Given the description of an element on the screen output the (x, y) to click on. 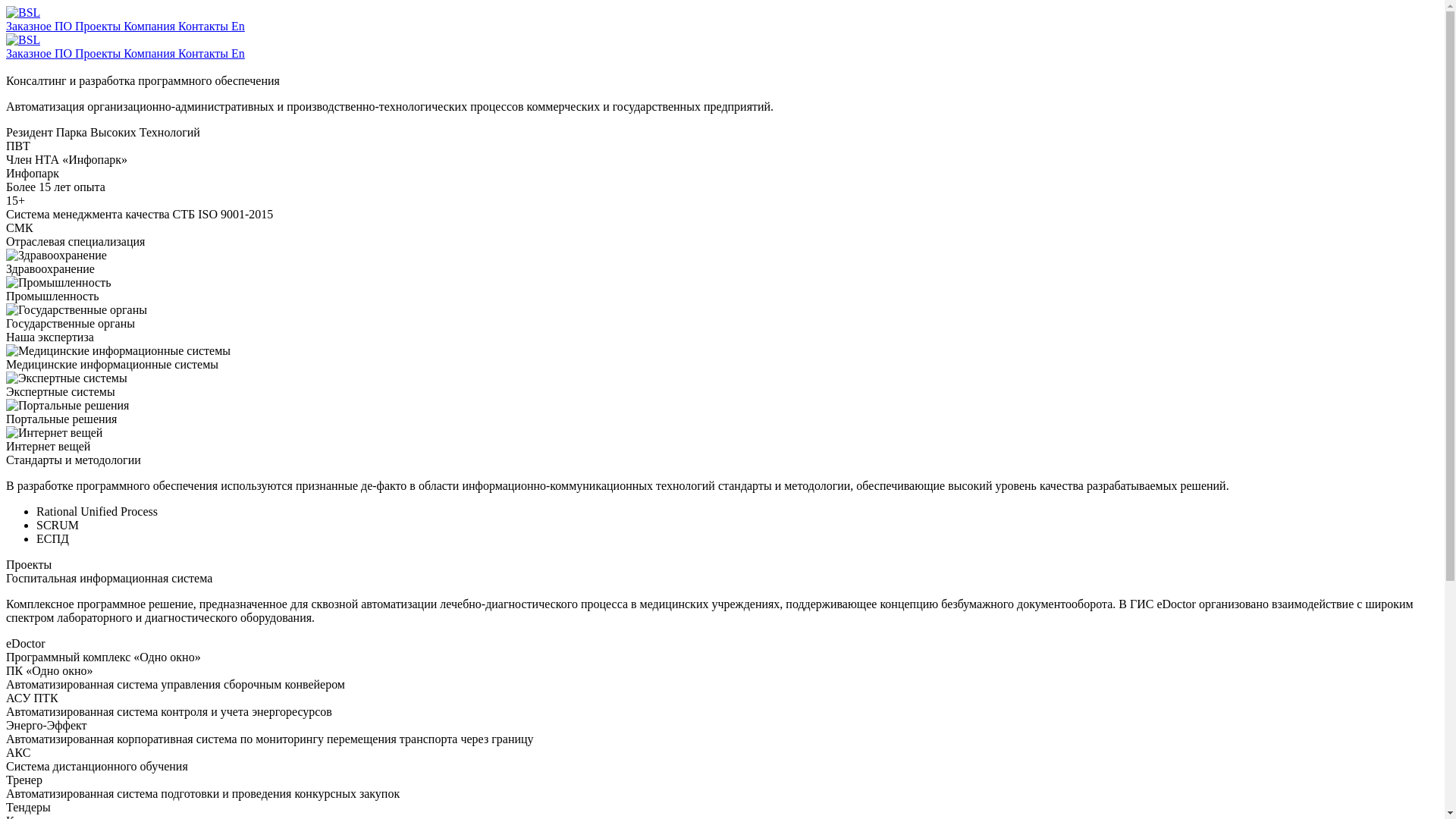
En Element type: text (237, 25)
En Element type: text (237, 53)
